Given the description of an element on the screen output the (x, y) to click on. 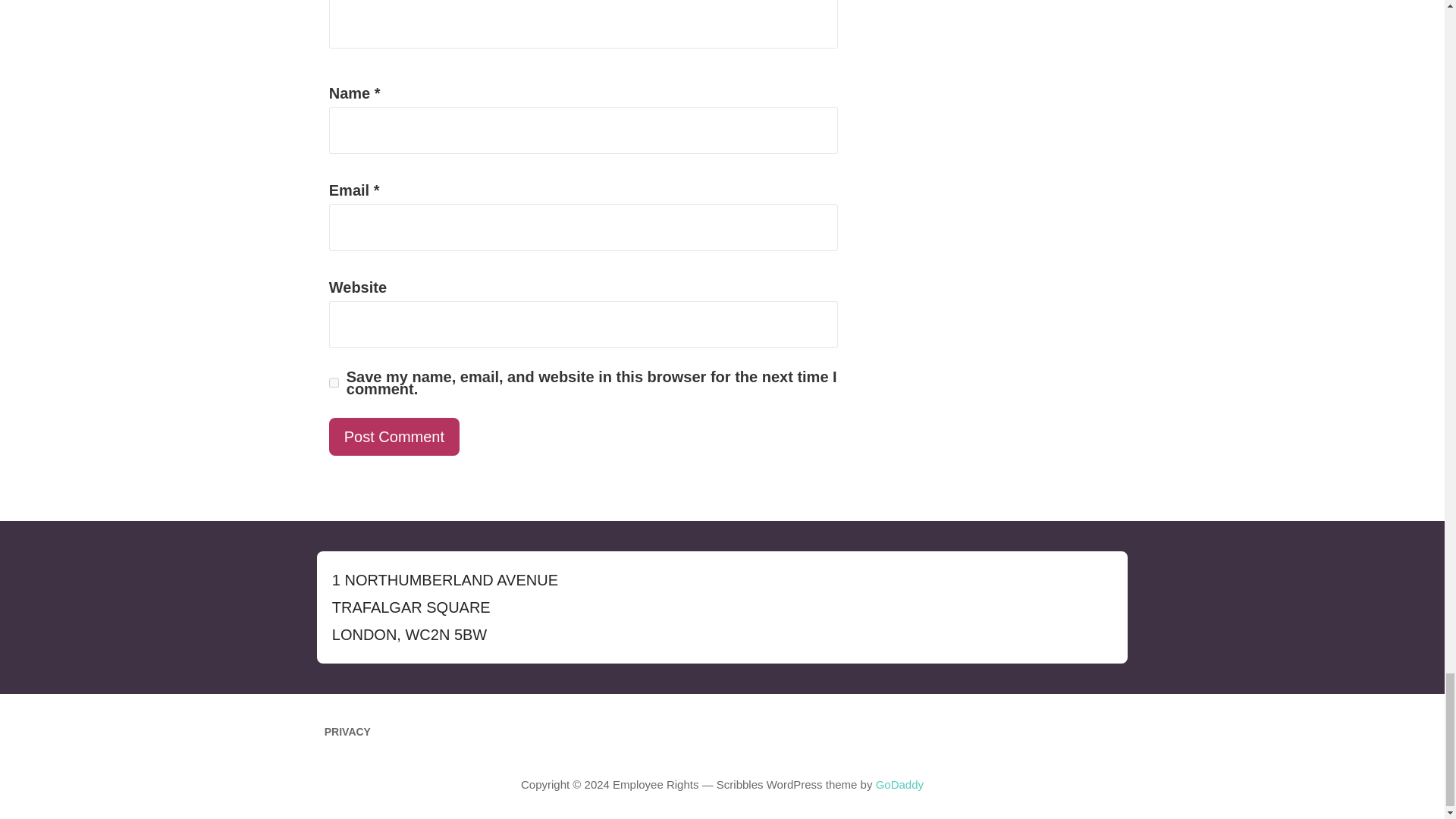
Post Comment (394, 436)
Post Comment (394, 436)
